Given the description of an element on the screen output the (x, y) to click on. 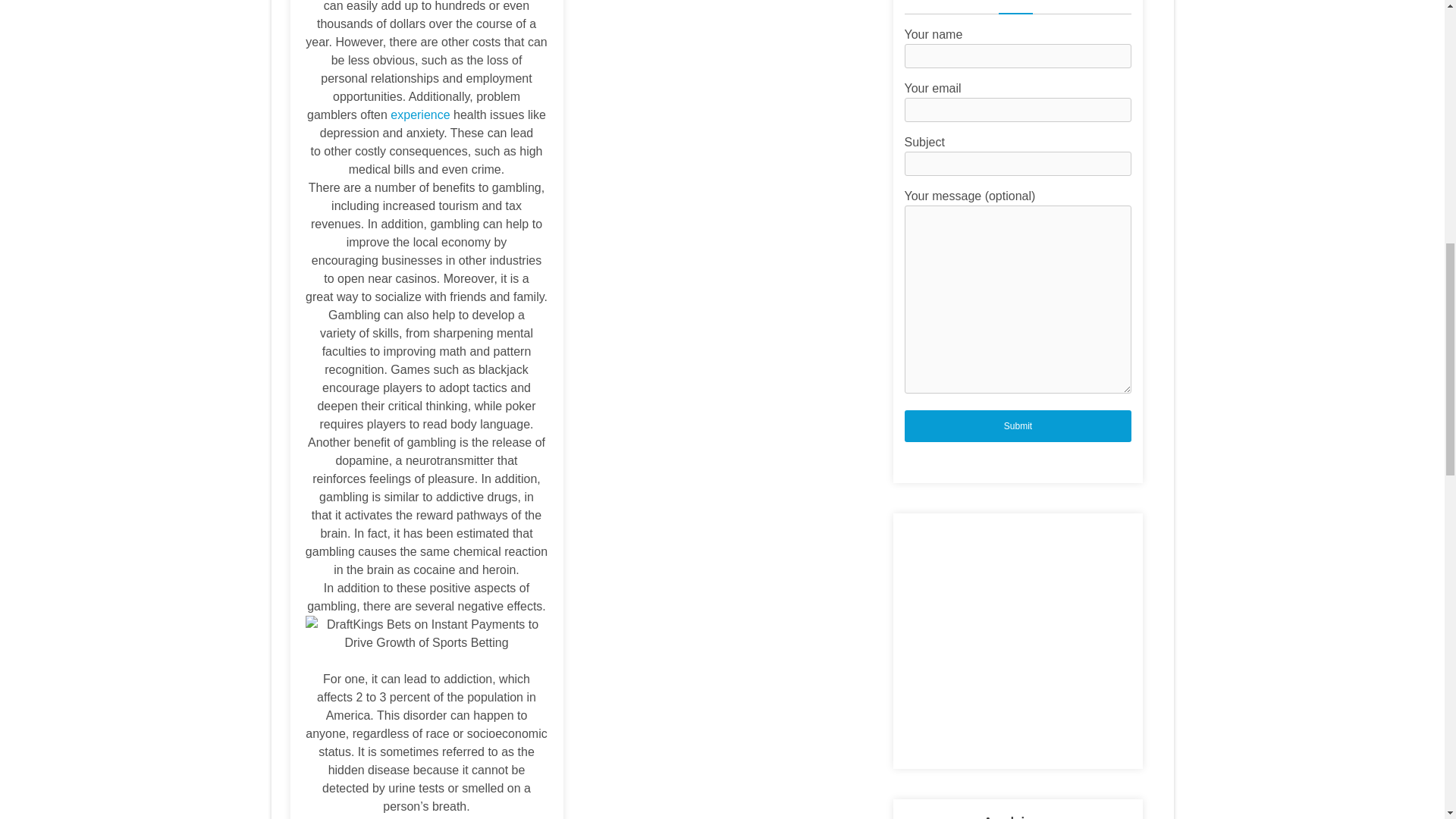
experience (419, 114)
Submit (1017, 425)
gambling (438, 818)
Submit (1017, 425)
